Given the description of an element on the screen output the (x, y) to click on. 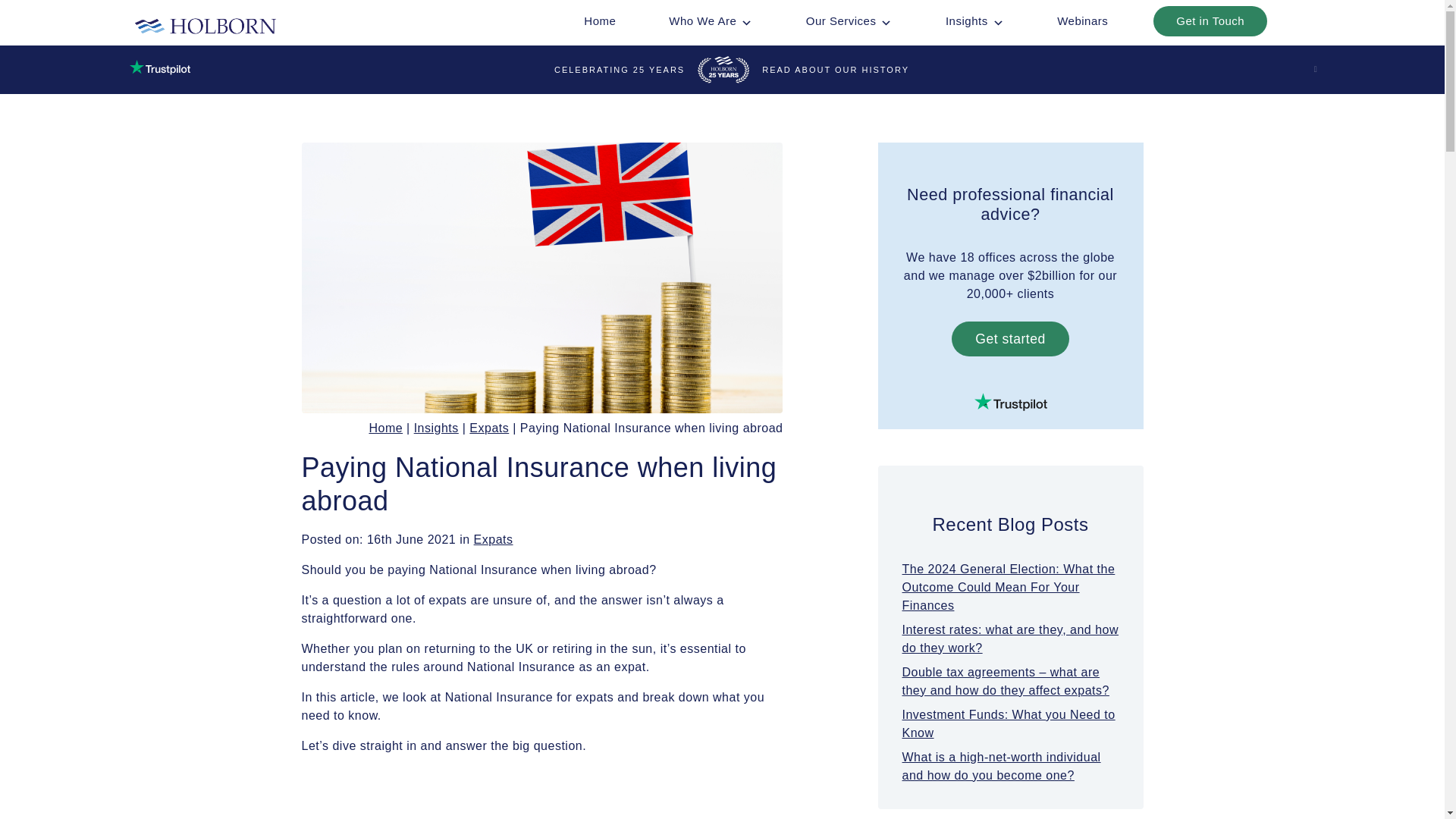
Customer reviews powered by Trustpilot (1010, 402)
Who We Are (710, 20)
Insights (974, 20)
View all (493, 539)
Home (599, 20)
Our Services (848, 20)
